Given the description of an element on the screen output the (x, y) to click on. 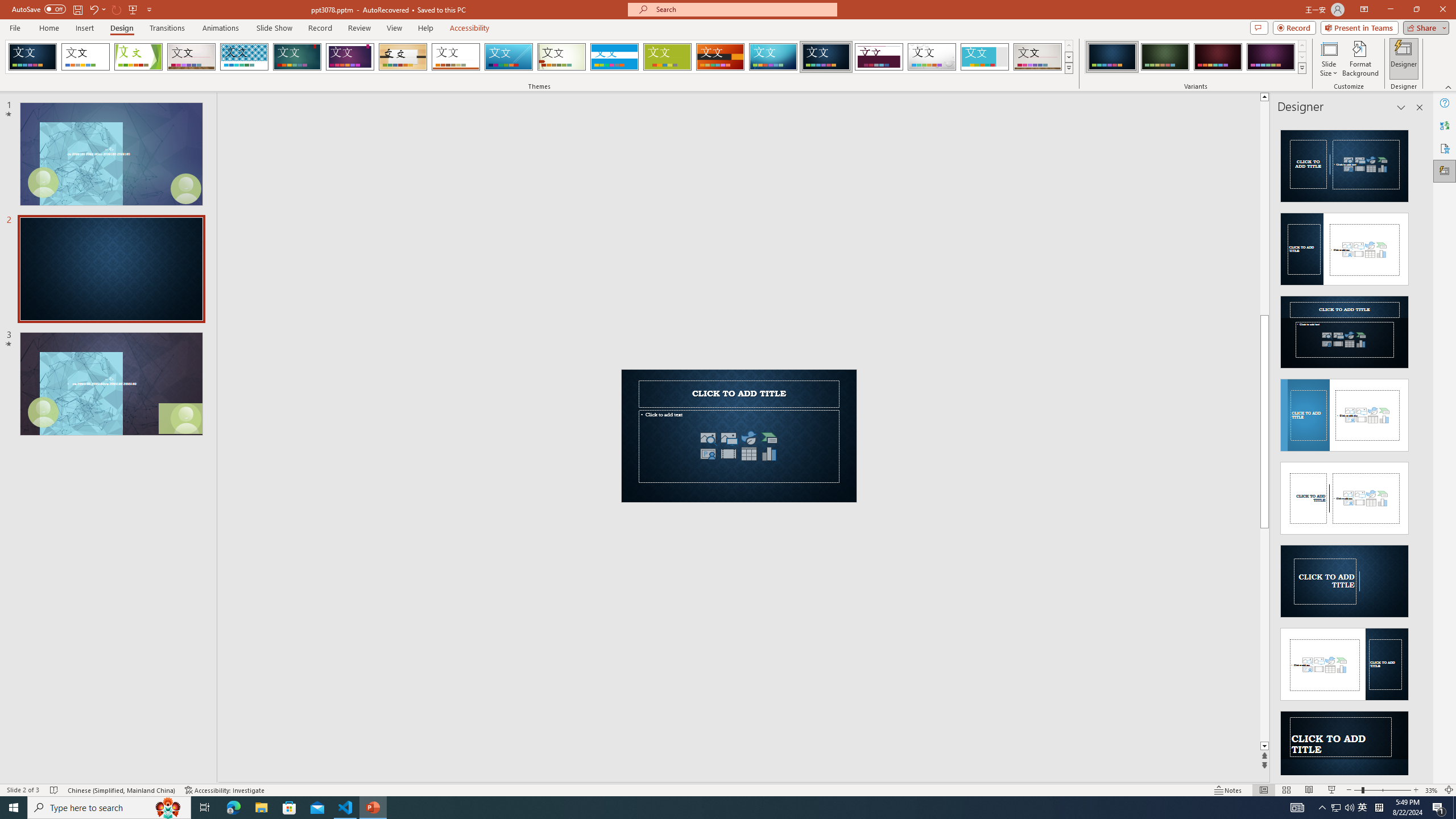
Office Theme (85, 56)
Insert Video (728, 453)
Class: NetUIScrollBar (1418, 447)
Ion (296, 56)
Slice (508, 56)
AutomationID: SlideThemesGallery (539, 56)
Retrospect (455, 56)
